Given the description of an element on the screen output the (x, y) to click on. 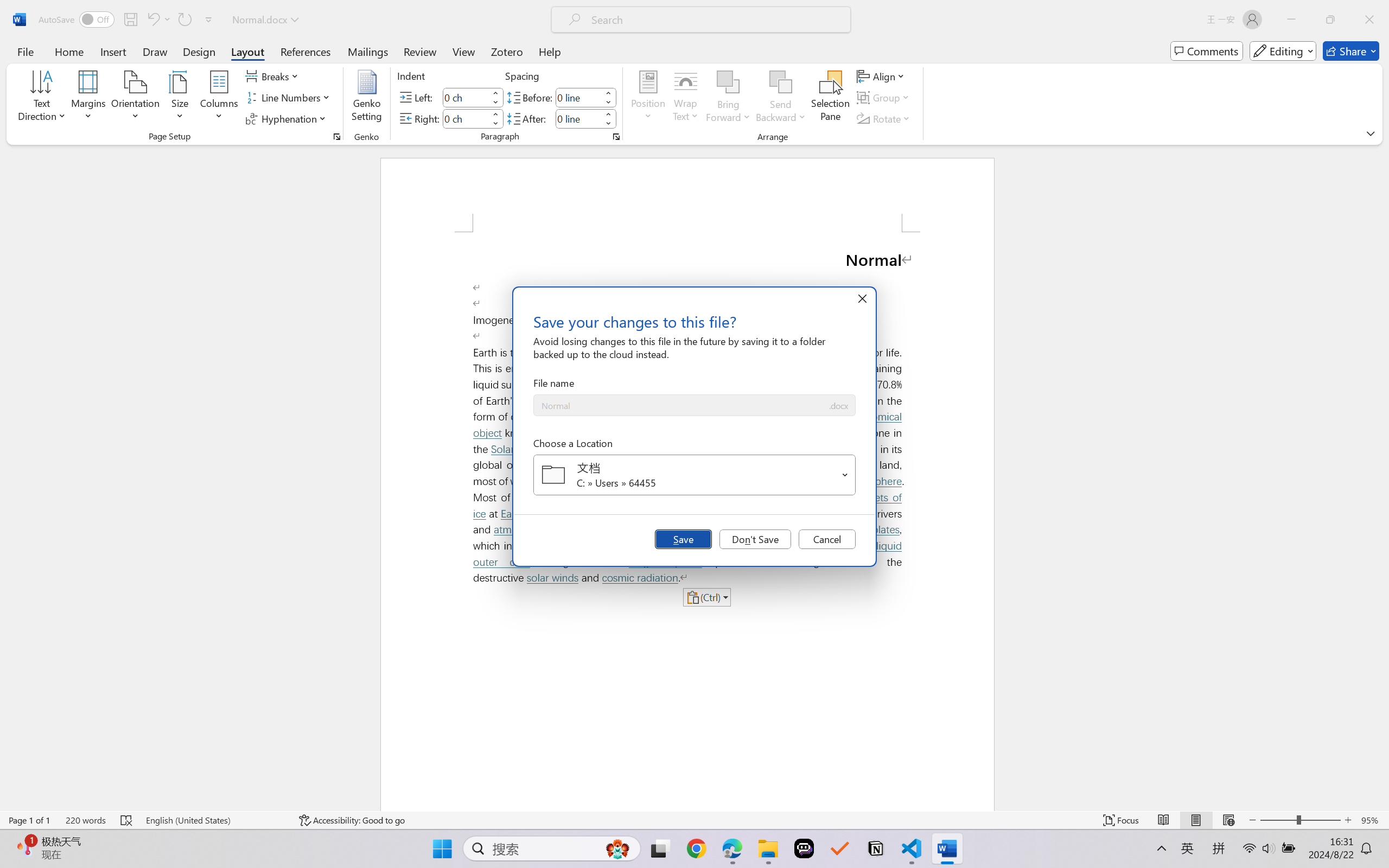
Indent Right (465, 118)
Bring Forward (728, 97)
Send Backward (781, 97)
Action: Paste alternatives (706, 597)
Poe (804, 848)
